Given the description of an element on the screen output the (x, y) to click on. 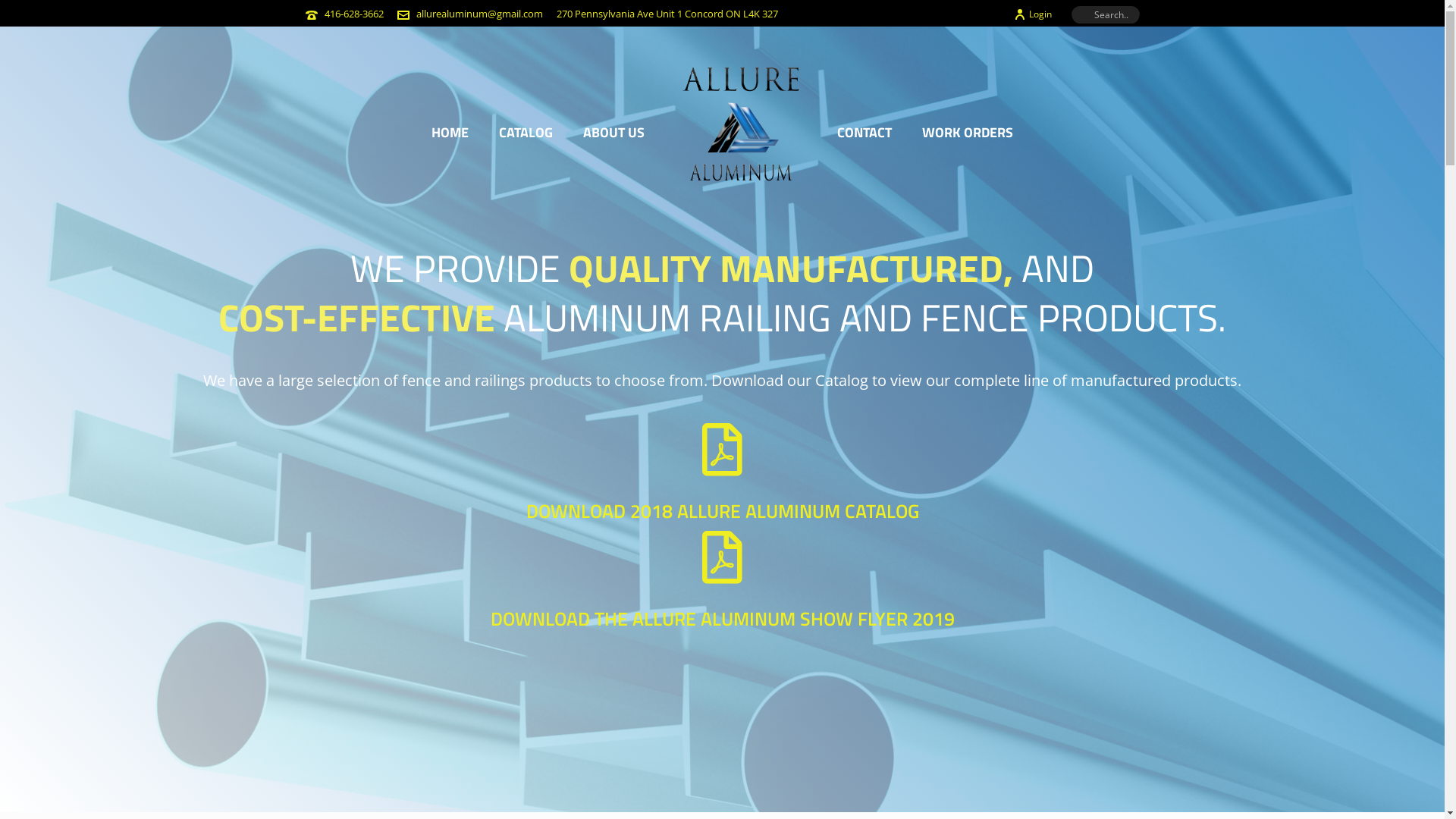
CATALOG Element type: text (525, 130)
Allure Aluminum Element type: hover (740, 130)
416-628-3662 Element type: text (353, 13)
ABOUT US Element type: text (613, 130)
DOWNLOAD THE ALLURE ALUMINUM SHOW FLYER 2019 Element type: text (721, 617)
Allure Aluminum 2018 Catalog Element type: hover (721, 449)
HOME Element type: text (449, 130)
Login Element type: text (1032, 13)
WORK ORDERS Element type: text (967, 130)
Allure Aluminum 2019 Flyer Element type: hover (721, 556)
allurealuminum@gmail.com Element type: text (478, 13)
CONTACT Element type: text (864, 130)
